Given the description of an element on the screen output the (x, y) to click on. 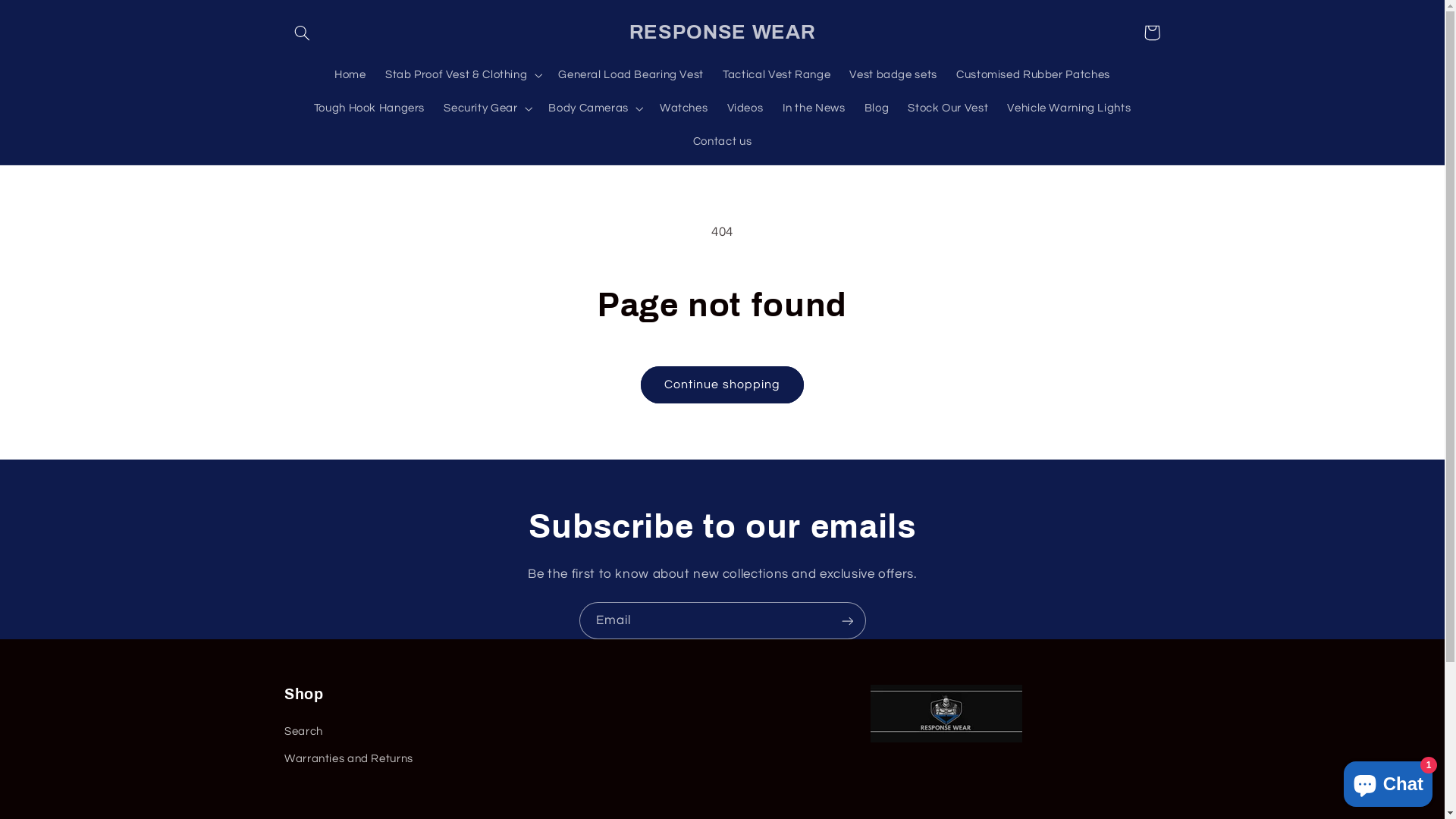
Vest badge sets Element type: text (893, 74)
Contact us Element type: text (722, 141)
Shopify online store chat Element type: hover (1388, 780)
General Load Bearing Vest Element type: text (631, 74)
Stock Our Vest Element type: text (947, 108)
Home Element type: text (350, 74)
Vehicle Warning Lights Element type: text (1068, 108)
Customised Rubber Patches Element type: text (1032, 74)
Videos Element type: text (744, 108)
In the News Element type: text (813, 108)
Warranties and Returns Element type: text (348, 758)
Tactical Vest Range Element type: text (776, 74)
Search Element type: text (303, 733)
Cart Element type: text (1151, 32)
Watches Element type: text (683, 108)
RESPONSE WEAR Element type: text (722, 32)
Continue shopping Element type: text (722, 384)
Tough Hook Hangers Element type: text (369, 108)
Blog Element type: text (876, 108)
